Given the description of an element on the screen output the (x, y) to click on. 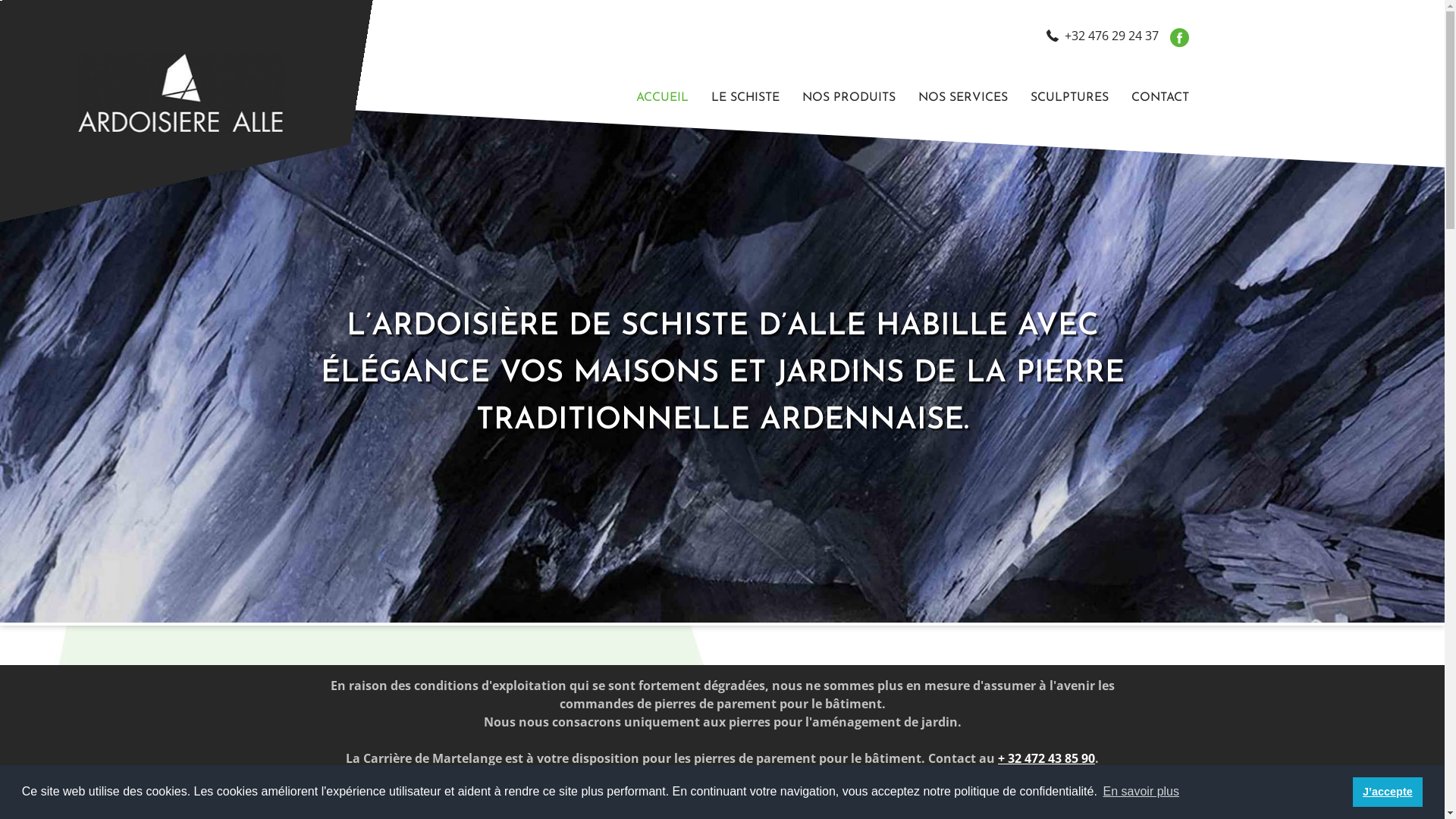
CONTACT Element type: text (1153, 97)
NOS PRODUITS Element type: text (848, 97)
En savoir plus Element type: text (1140, 791)
SCULPTURES Element type: text (1069, 97)
+ 32 472 43 85 90 Element type: text (1046, 757)
NOS SERVICES Element type: text (962, 97)
ACCUEIL Element type: text (661, 97)
LE SCHISTE Element type: text (744, 97)
